Given the description of an element on the screen output the (x, y) to click on. 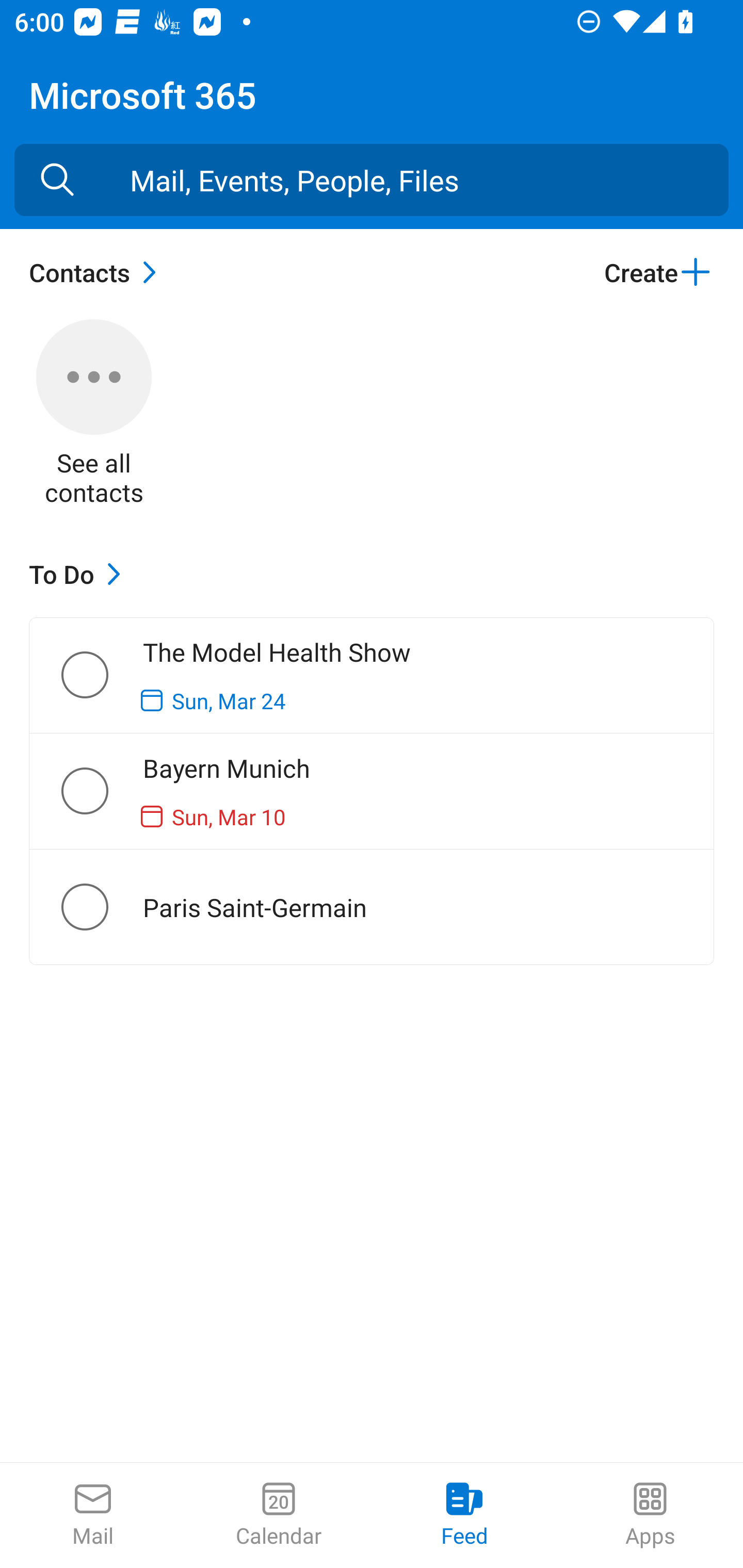
Search for Mail, Events, People, Files (57, 180)
Contacts (97, 271)
Create Create contact (658, 271)
See all contacts (93, 414)
To Do (79, 573)
The Model Health Show (101, 674)
Bayern Munich (101, 790)
Paris Saint-Germain (101, 906)
Mail (92, 1515)
Calendar (278, 1515)
Apps (650, 1515)
